Given the description of an element on the screen output the (x, y) to click on. 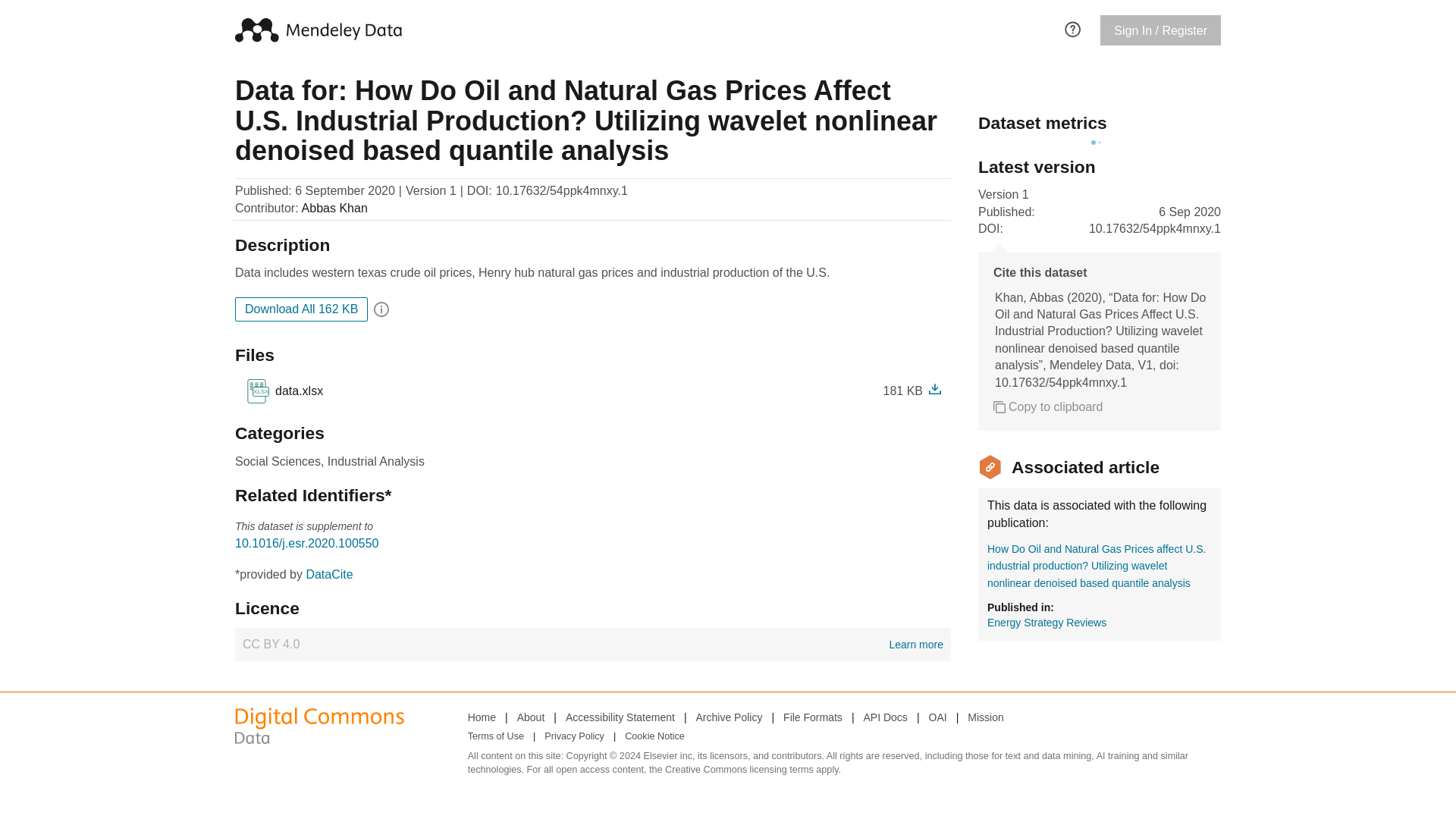
Mission (985, 717)
DataCite (592, 644)
Cookie Notice (328, 574)
OAI (654, 736)
File Formats (937, 717)
Home (813, 717)
Archive Policy (481, 717)
Accessibility Statement (728, 717)
Terms of Use (620, 717)
